Given the description of an element on the screen output the (x, y) to click on. 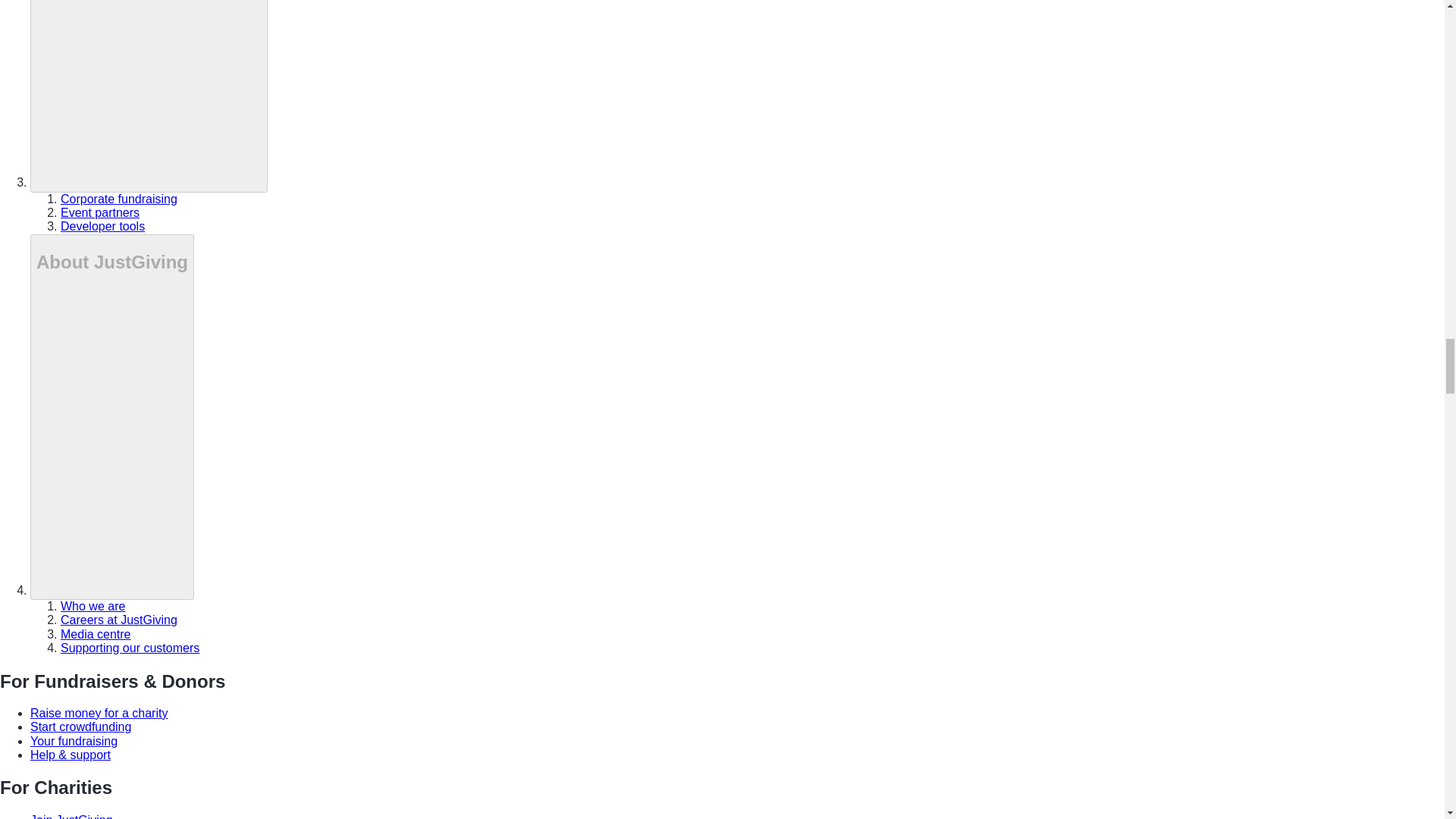
Corporate fundraising (119, 198)
